Given the description of an element on the screen output the (x, y) to click on. 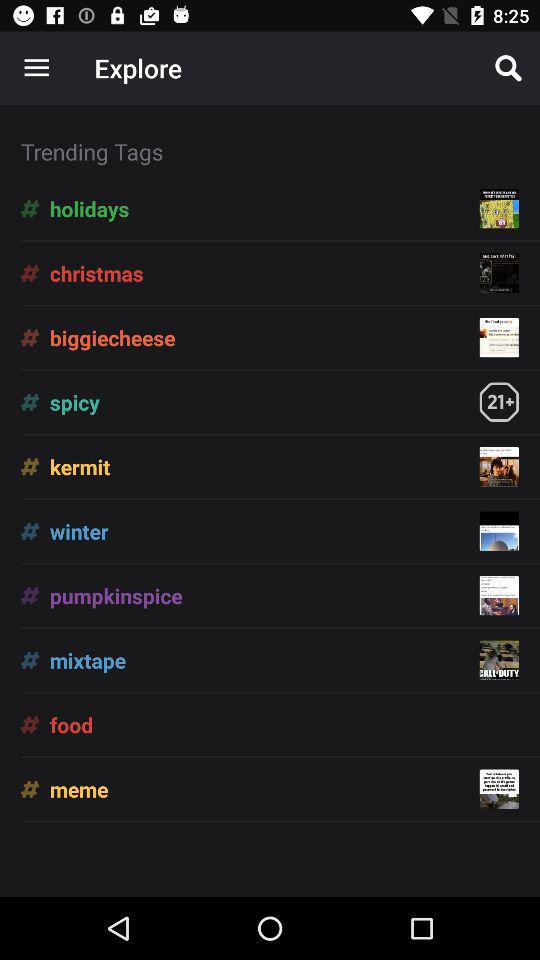
tap the icon above the trending tags icon (36, 68)
